Given the description of an element on the screen output the (x, y) to click on. 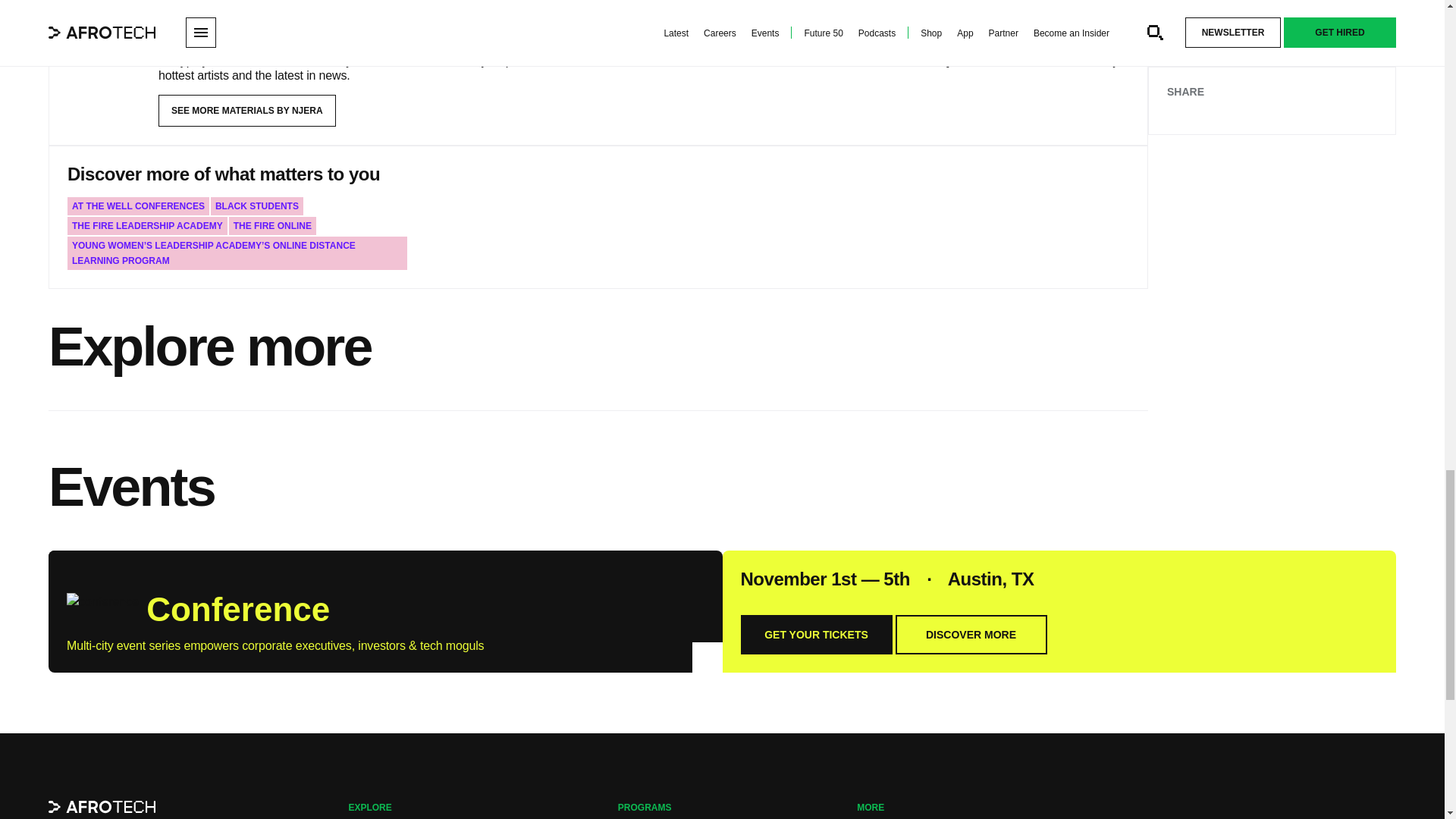
GET YOUR TICKETS (815, 634)
BLACK STUDENTS (256, 206)
Njera Perkins (213, 16)
SEE MORE MATERIALS BY NJERA (247, 110)
AT THE WELL CONFERENCES (137, 206)
DISCOVER MORE (970, 634)
THE FIRE ONLINE (271, 226)
THE FIRE LEADERSHIP ACADEMY (146, 226)
Njera Perkins (102, 42)
conference (102, 605)
